Given the description of an element on the screen output the (x, y) to click on. 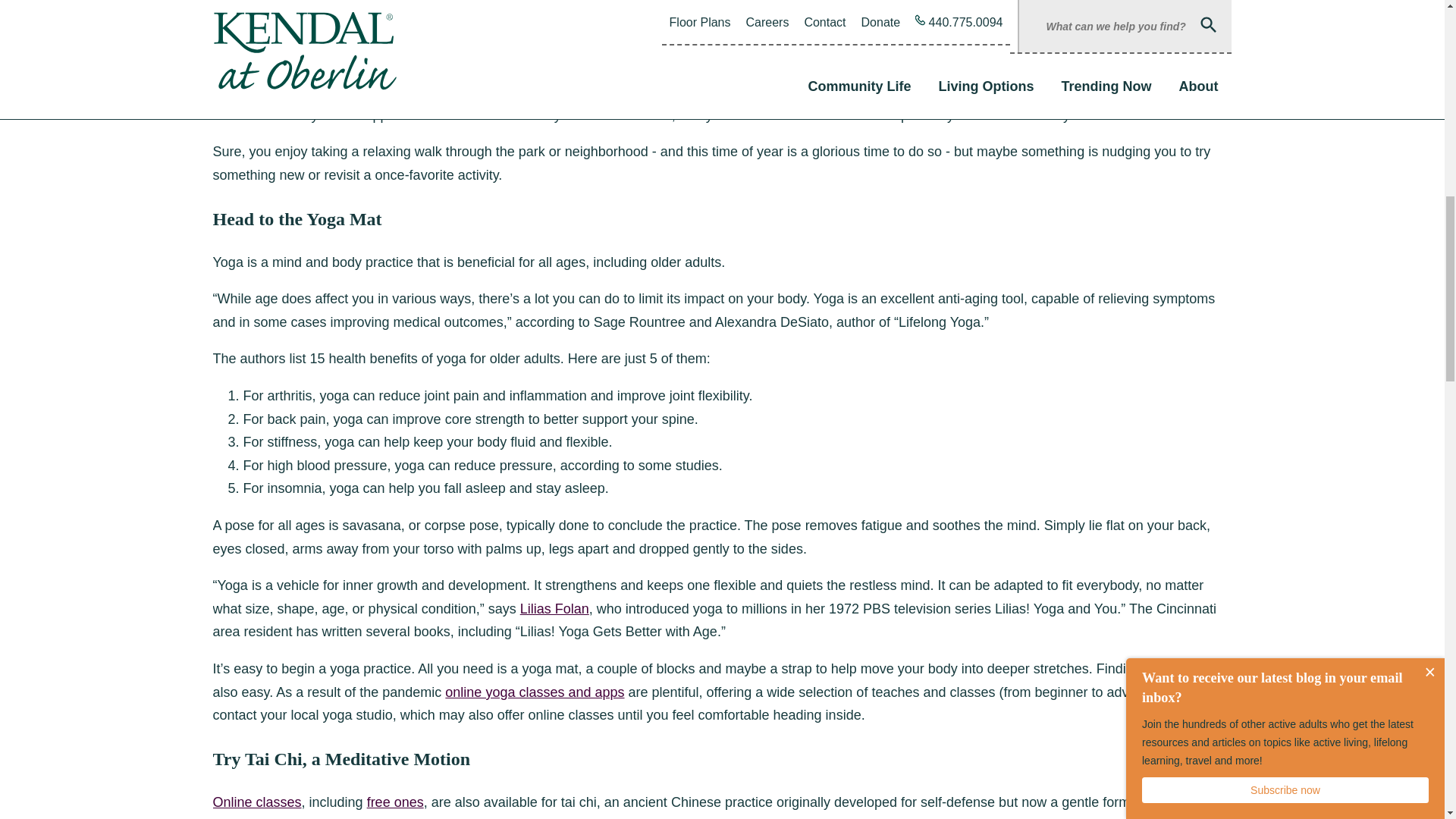
Lilias Folan (554, 608)
online yoga classes and apps (534, 692)
free ones (394, 801)
Online classes (256, 801)
